Given the description of an element on the screen output the (x, y) to click on. 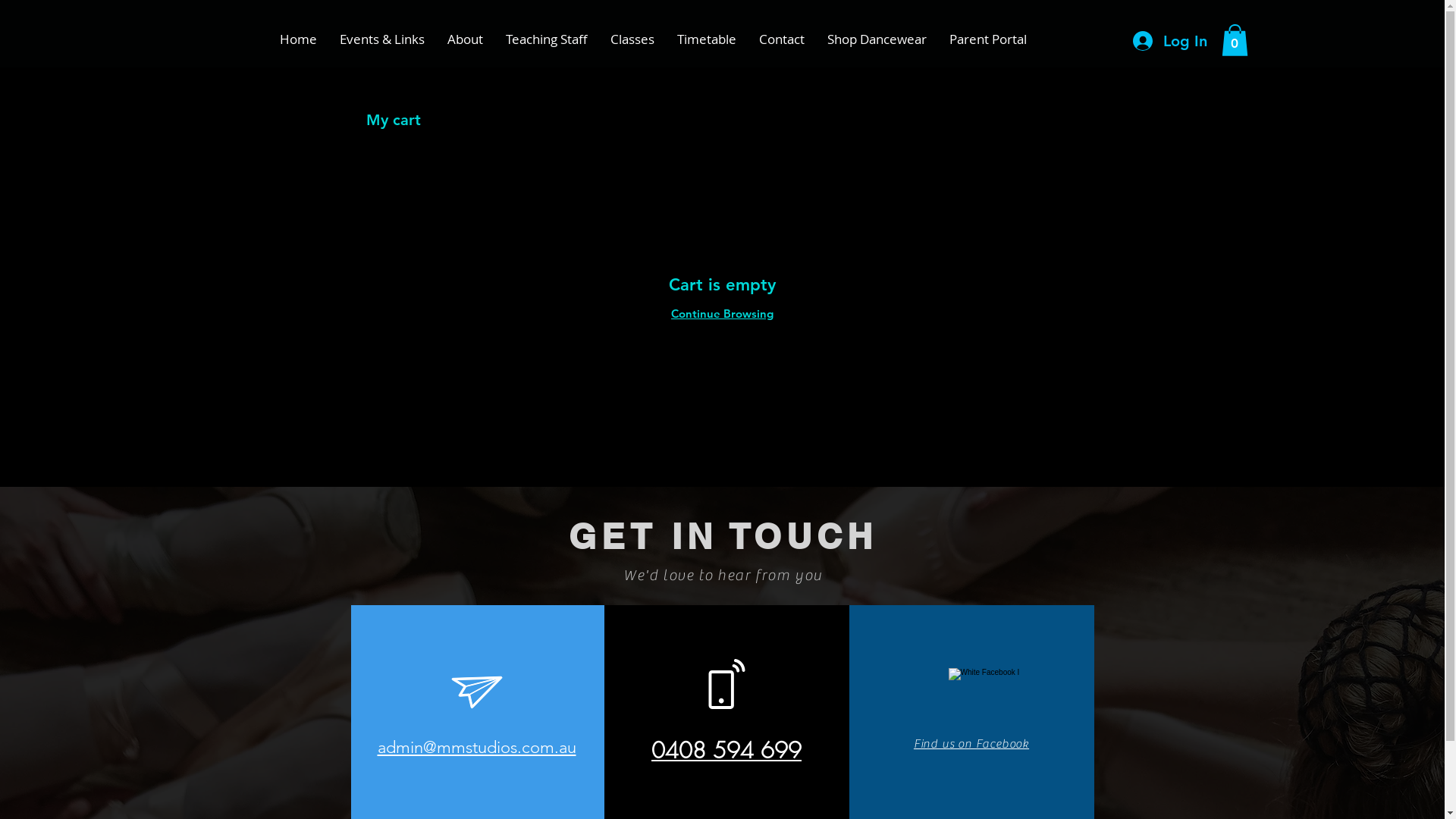
Home Element type: text (298, 38)
Events & Links Element type: text (381, 38)
Find us on Facebook Element type: text (971, 743)
Parent Portal Element type: text (987, 38)
Shop Dancewear Element type: text (876, 38)
Teaching Staff Element type: text (546, 38)
Contact Element type: text (781, 38)
0 Element type: text (1233, 40)
About Element type: text (464, 38)
Classes Element type: text (632, 38)
0408 594 699 Element type: text (726, 750)
Timetable Element type: text (706, 38)
Continue Browsing Element type: text (722, 313)
Log In Element type: text (1169, 40)
admin@mmstudios.com.au Element type: text (476, 747)
